Given the description of an element on the screen output the (x, y) to click on. 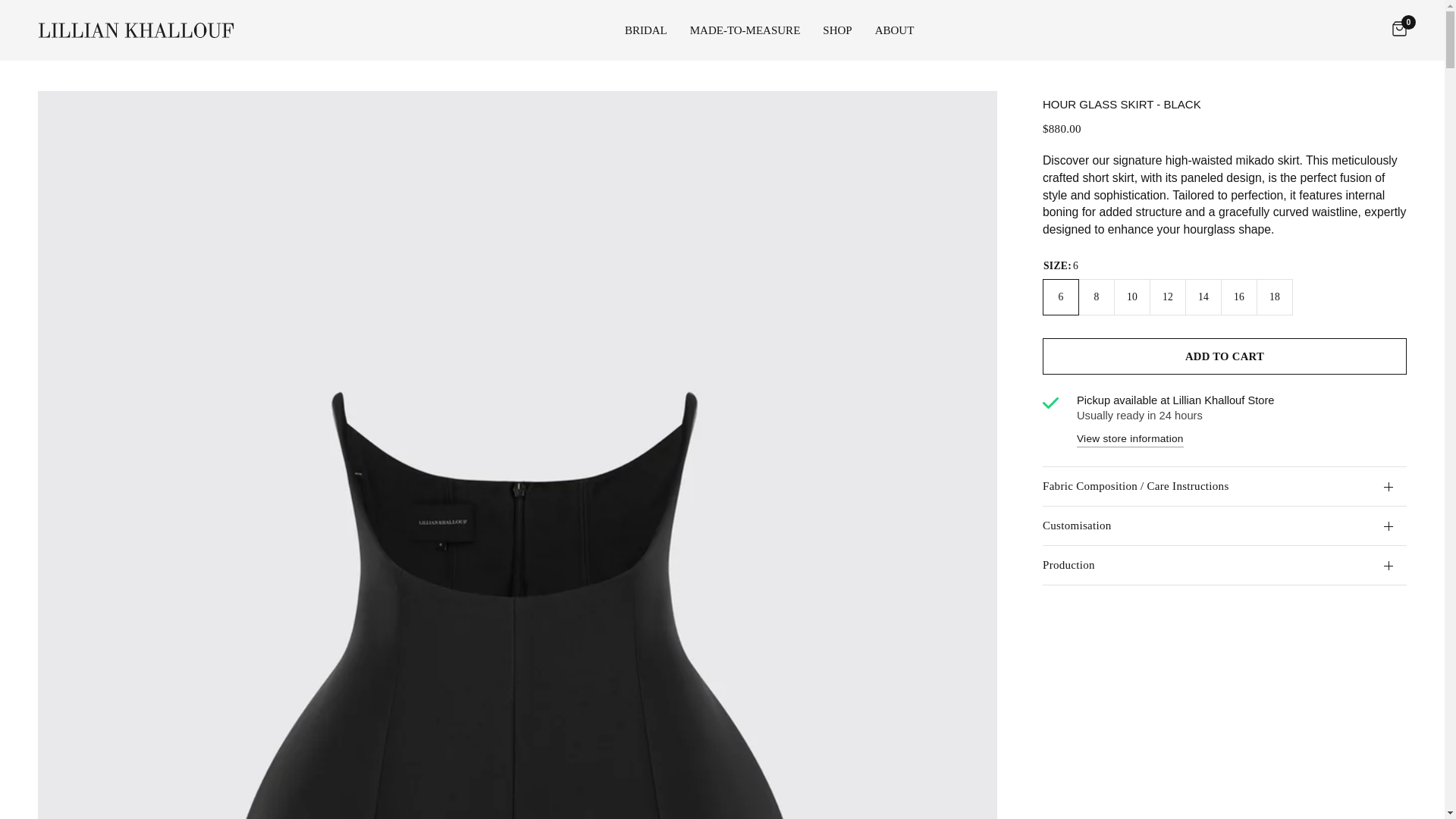
Made-to-Measure (745, 30)
MADE-TO-MEASURE (745, 30)
View store information (1130, 438)
About (894, 30)
ADD TO CART (1224, 356)
ABOUT (894, 30)
